Given the description of an element on the screen output the (x, y) to click on. 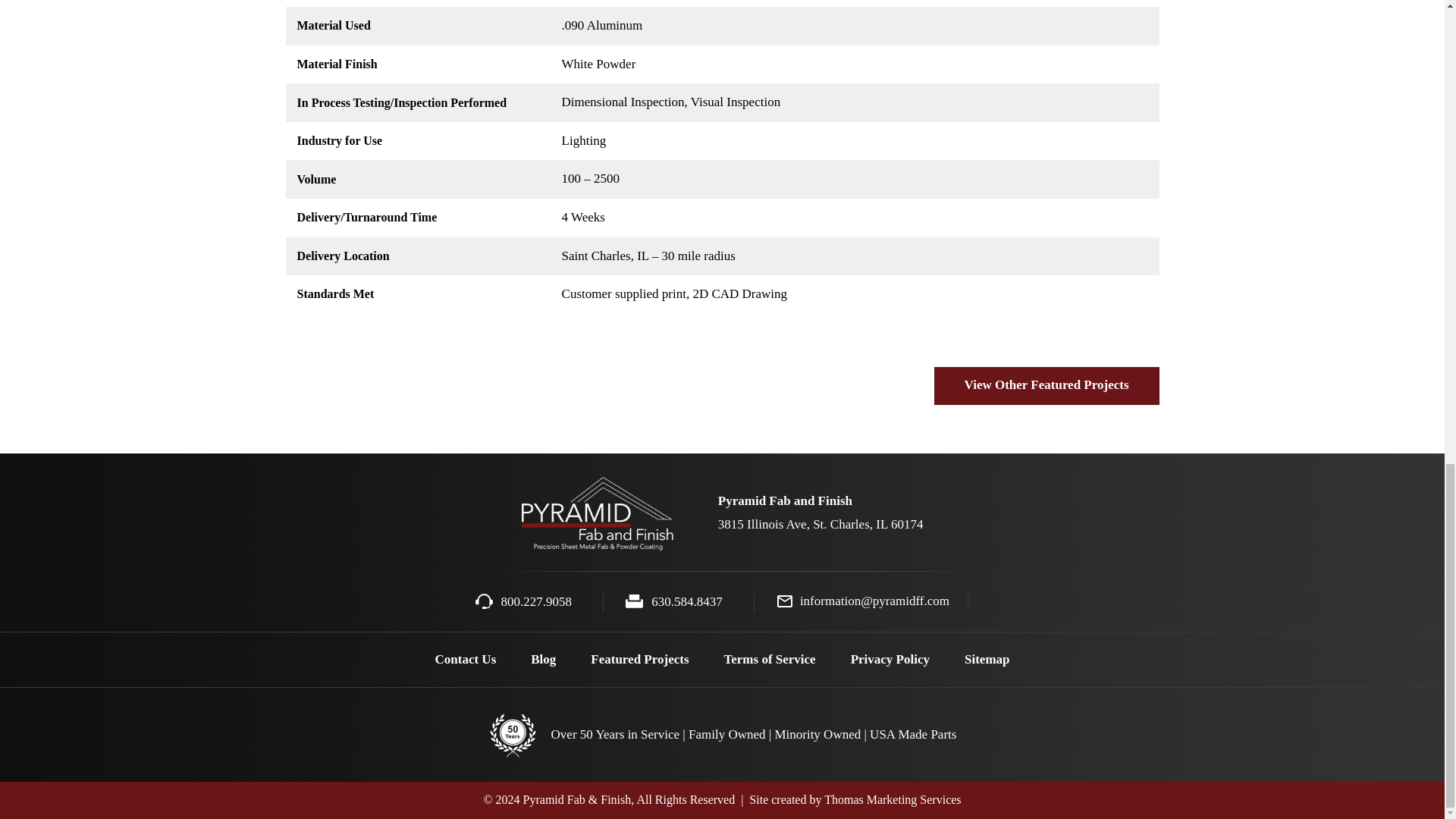
Pyramid Fab and Finish (596, 513)
40 Years (512, 735)
